Given the description of an element on the screen output the (x, y) to click on. 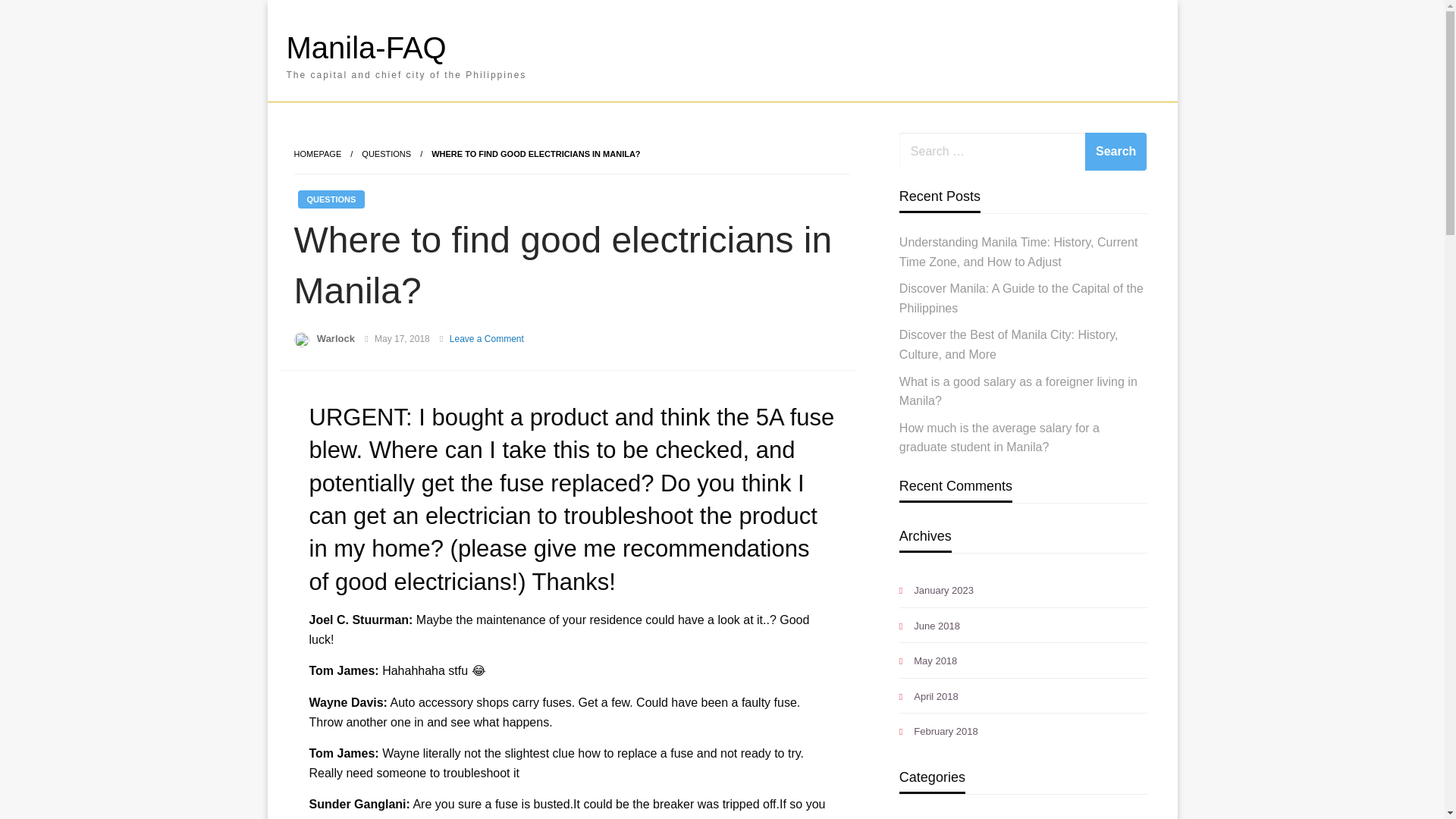
Search (1115, 151)
HOMEPAGE (318, 153)
Manila-FAQ (366, 47)
Search (1115, 151)
Warlock (336, 337)
Homepage (318, 153)
Where to find good electricians in Manila? (535, 153)
Questions (385, 153)
QUESTIONS (385, 153)
